Given the description of an element on the screen output the (x, y) to click on. 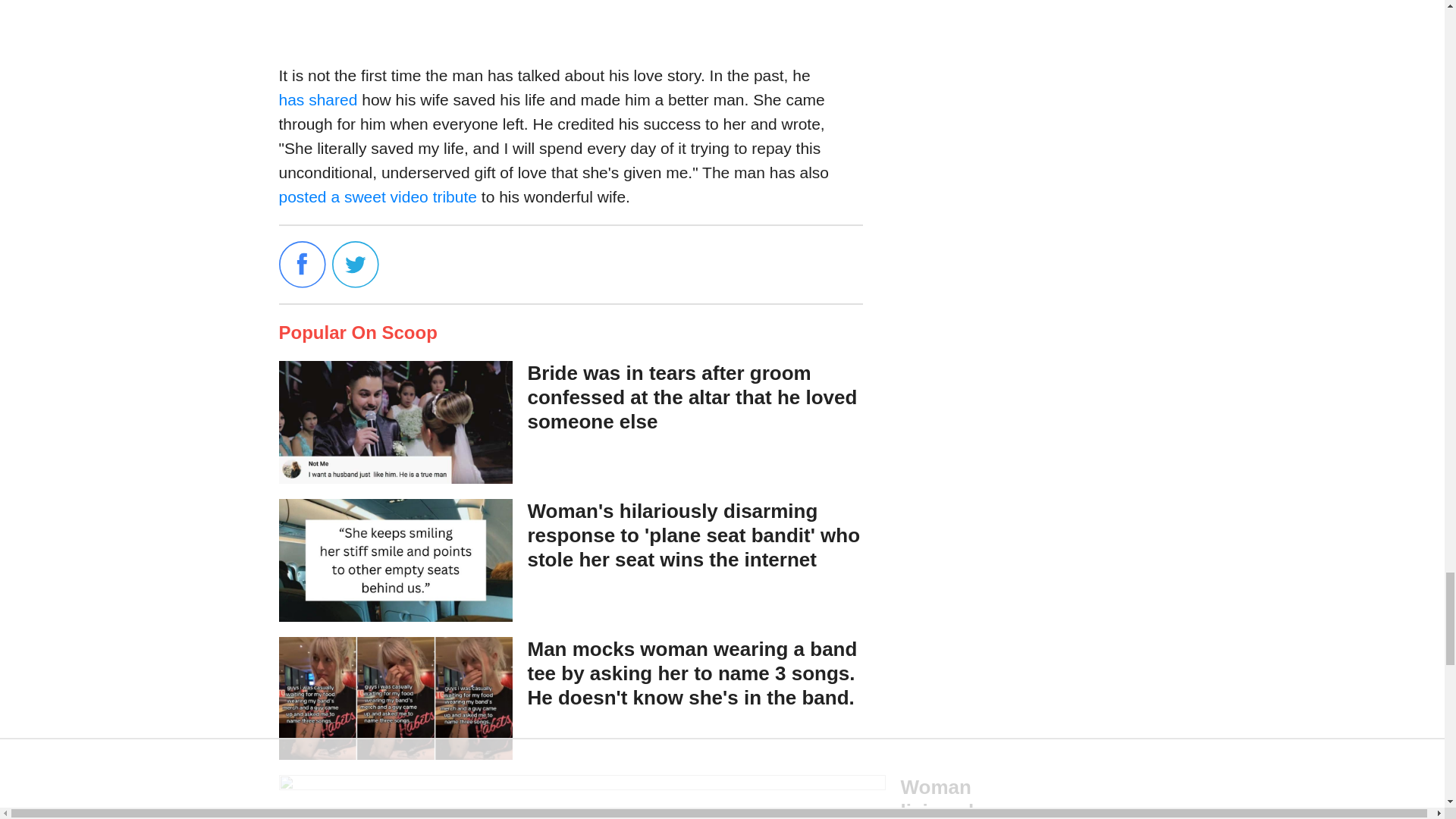
posted a sweet video tribute (378, 196)
has shared  (320, 99)
